Given the description of an element on the screen output the (x, y) to click on. 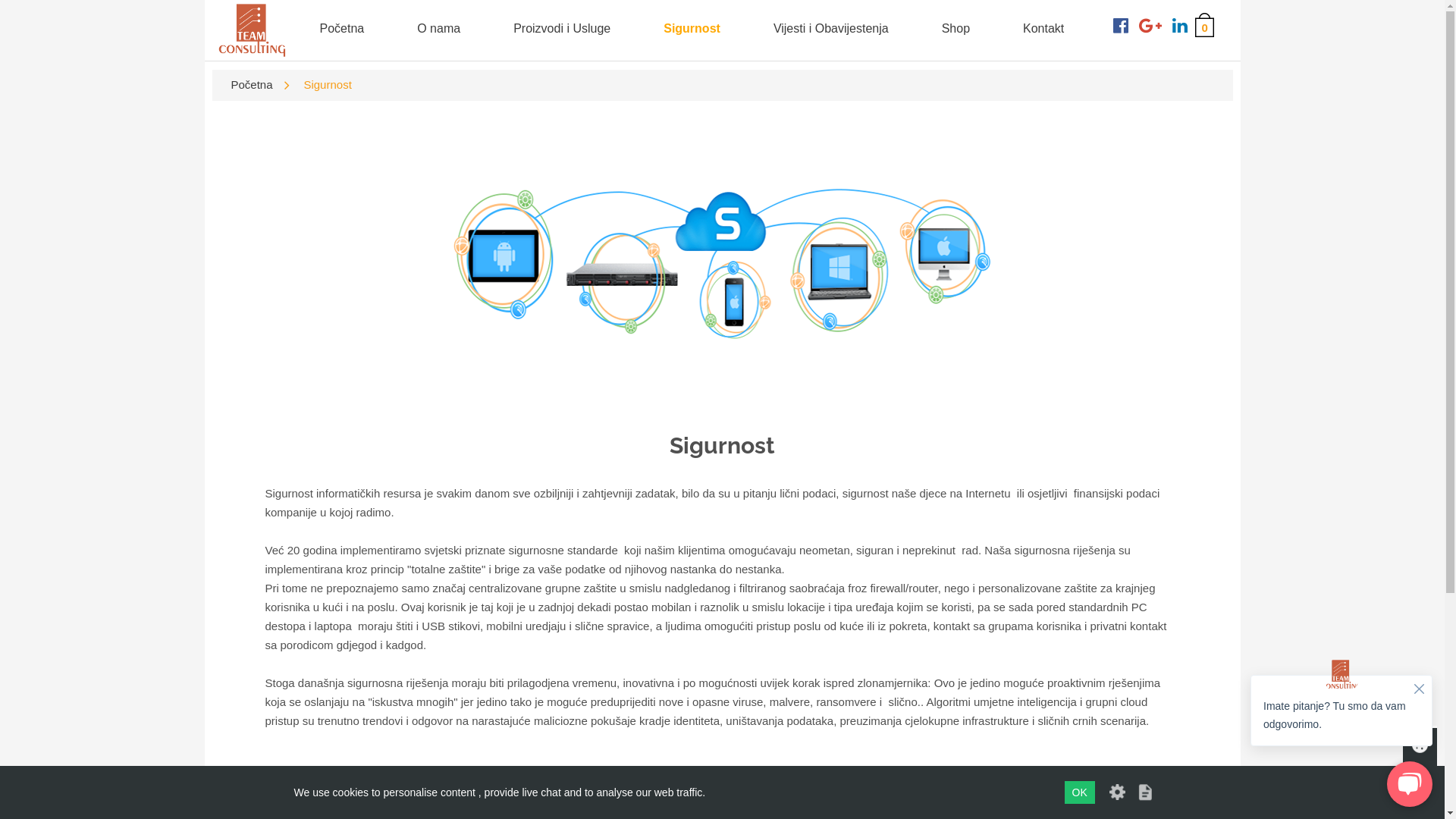
0 Element type: text (1203, 24)
Proizvodi i Usluge Element type: text (561, 28)
Sigurnost Element type: text (691, 28)
Kontakt Element type: text (1043, 28)
Shop Element type: text (955, 28)
O nama Element type: text (438, 28)
Vijesti i Obavijestenja Element type: text (831, 28)
OK Element type: text (1079, 792)
